Given the description of an element on the screen output the (x, y) to click on. 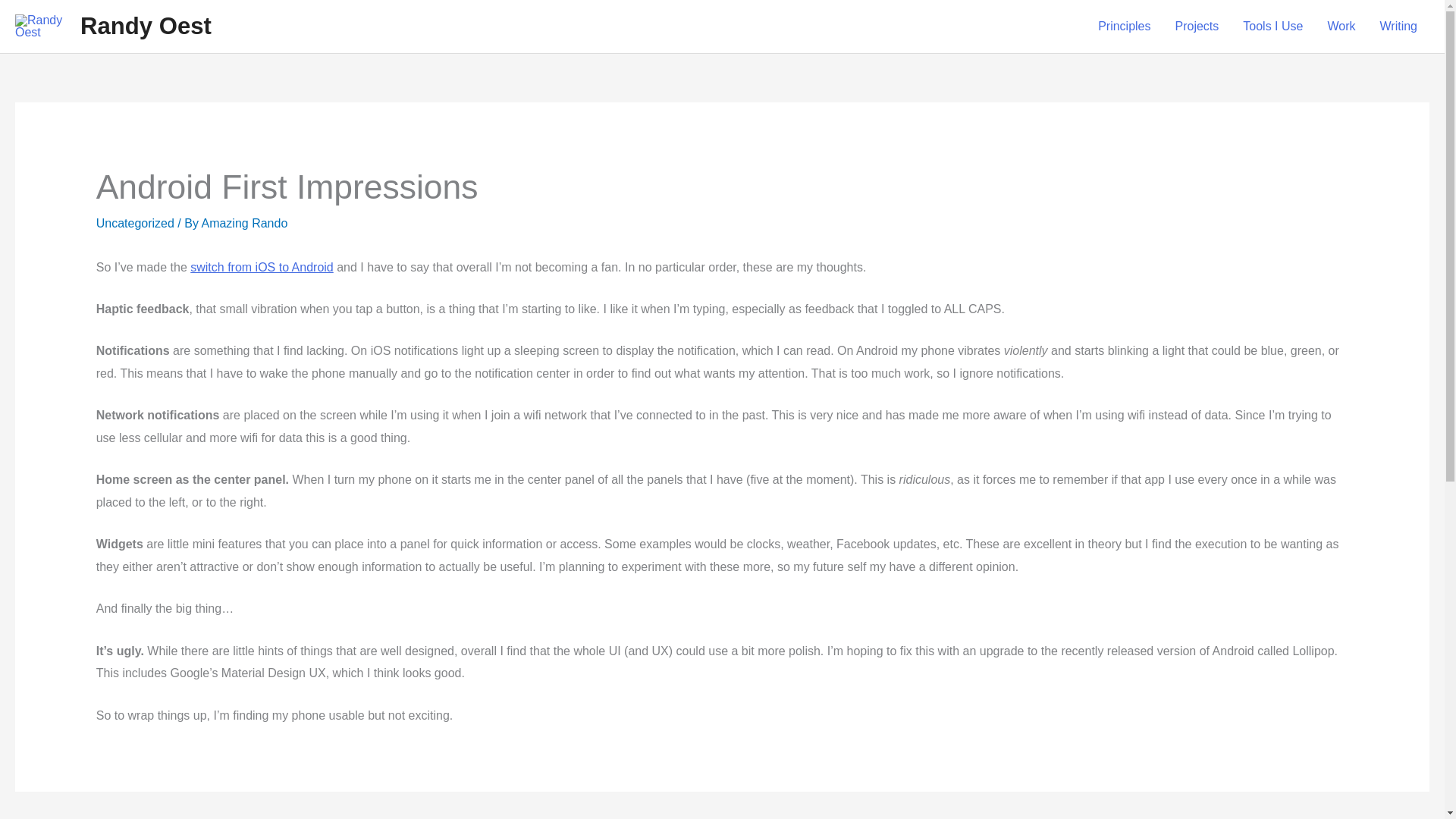
View all posts by Amazing Rando (243, 223)
Uncategorized (135, 223)
Amazing Rando (243, 223)
Tools I Use (1272, 26)
Randy Oest (145, 26)
Writing (1398, 26)
Work (1340, 26)
switch from iOS to Android (261, 267)
Principles (1123, 26)
Projects (1197, 26)
